Given the description of an element on the screen output the (x, y) to click on. 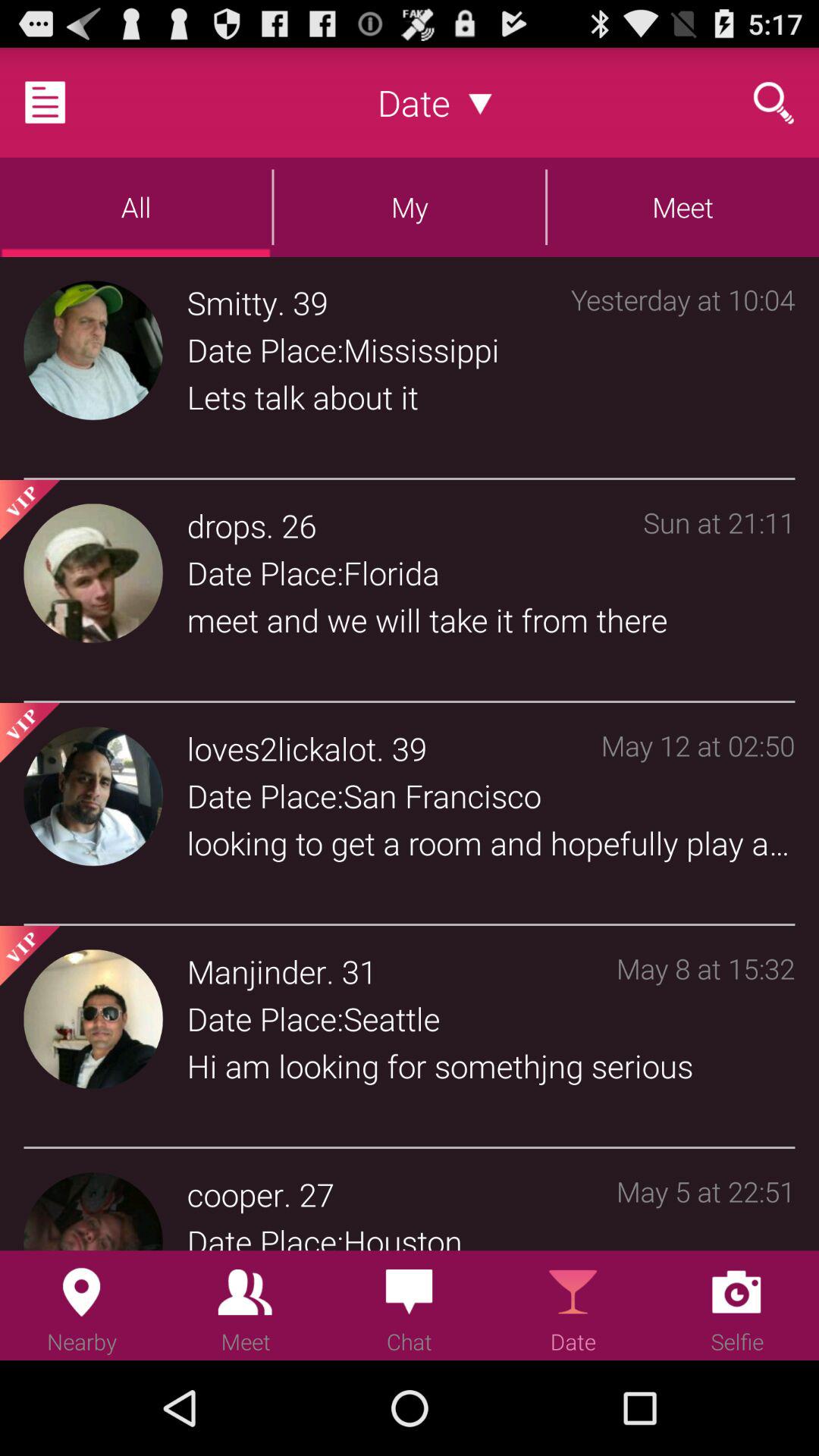
open item to the right of date place:florida app (719, 593)
